Given the description of an element on the screen output the (x, y) to click on. 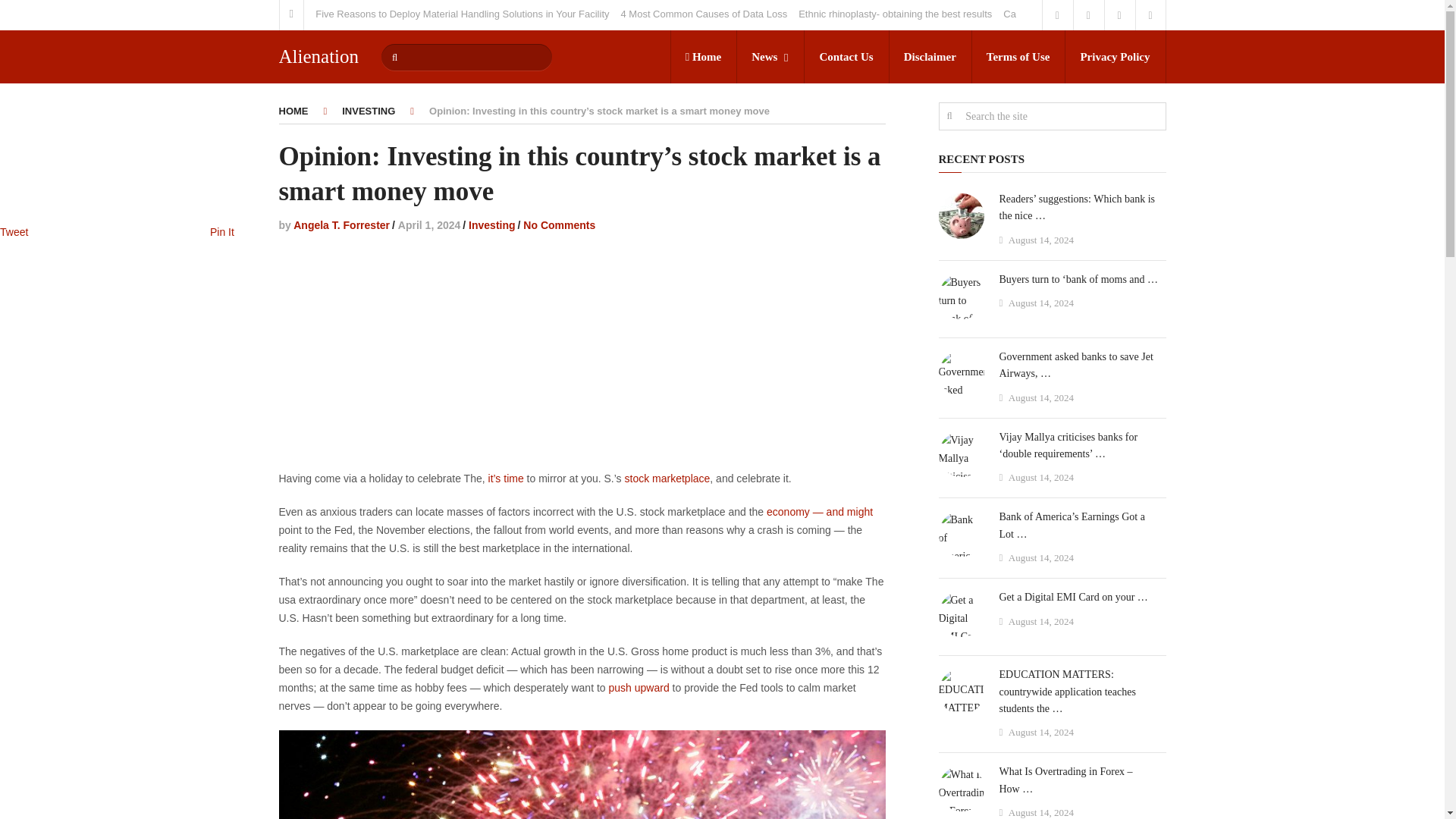
HOME (293, 111)
Privacy Policy (1115, 56)
Home (702, 56)
No Comments (558, 224)
Advertisement (582, 355)
Disclaimer (929, 56)
4 Most Common Causes of Data Loss (703, 13)
push upward (638, 687)
Alienation (319, 56)
